Given the description of an element on the screen output the (x, y) to click on. 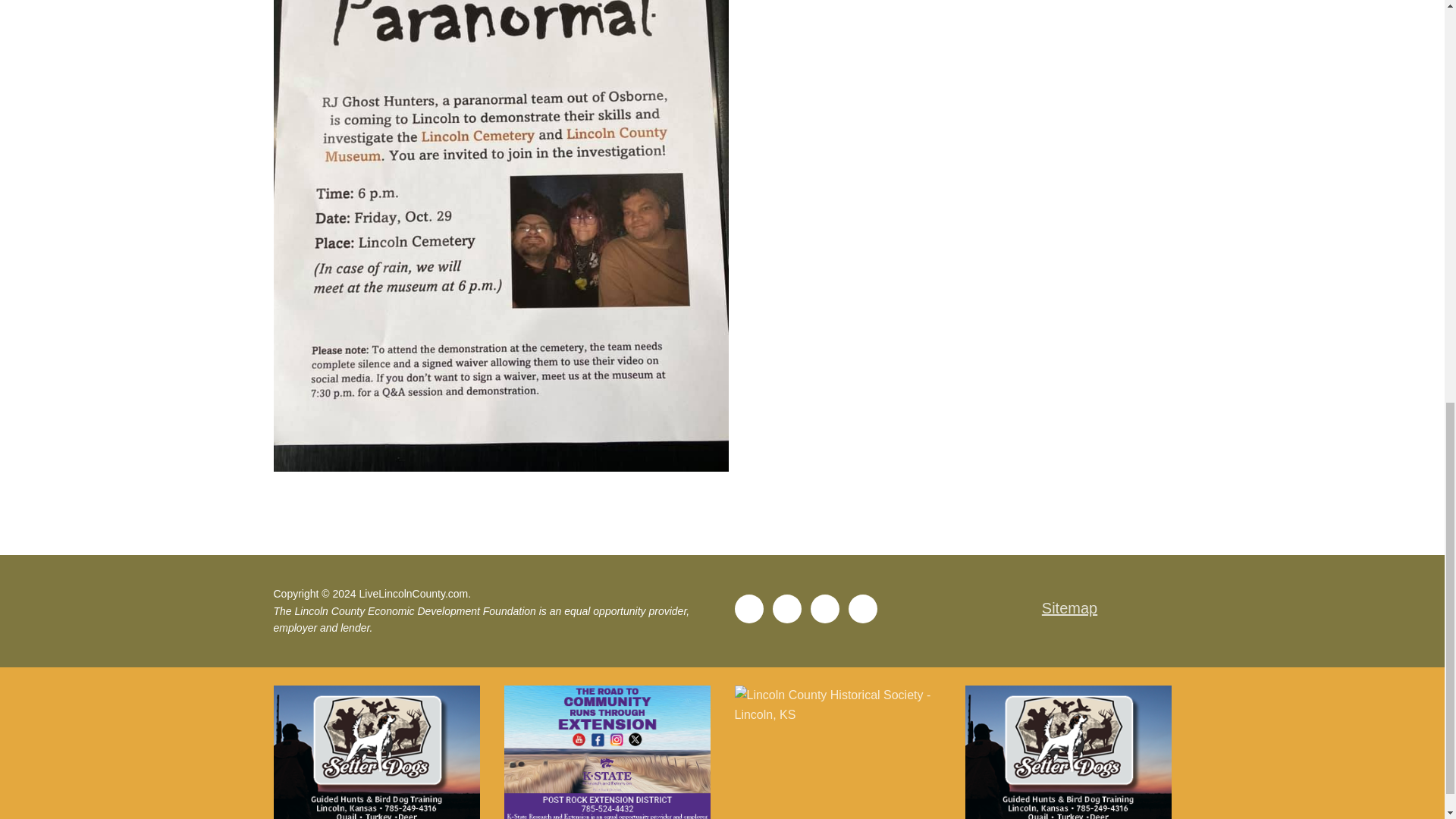
Youtube (823, 608)
Facebook (748, 608)
Instagram (862, 608)
Twitter (785, 608)
